Given the description of an element on the screen output the (x, y) to click on. 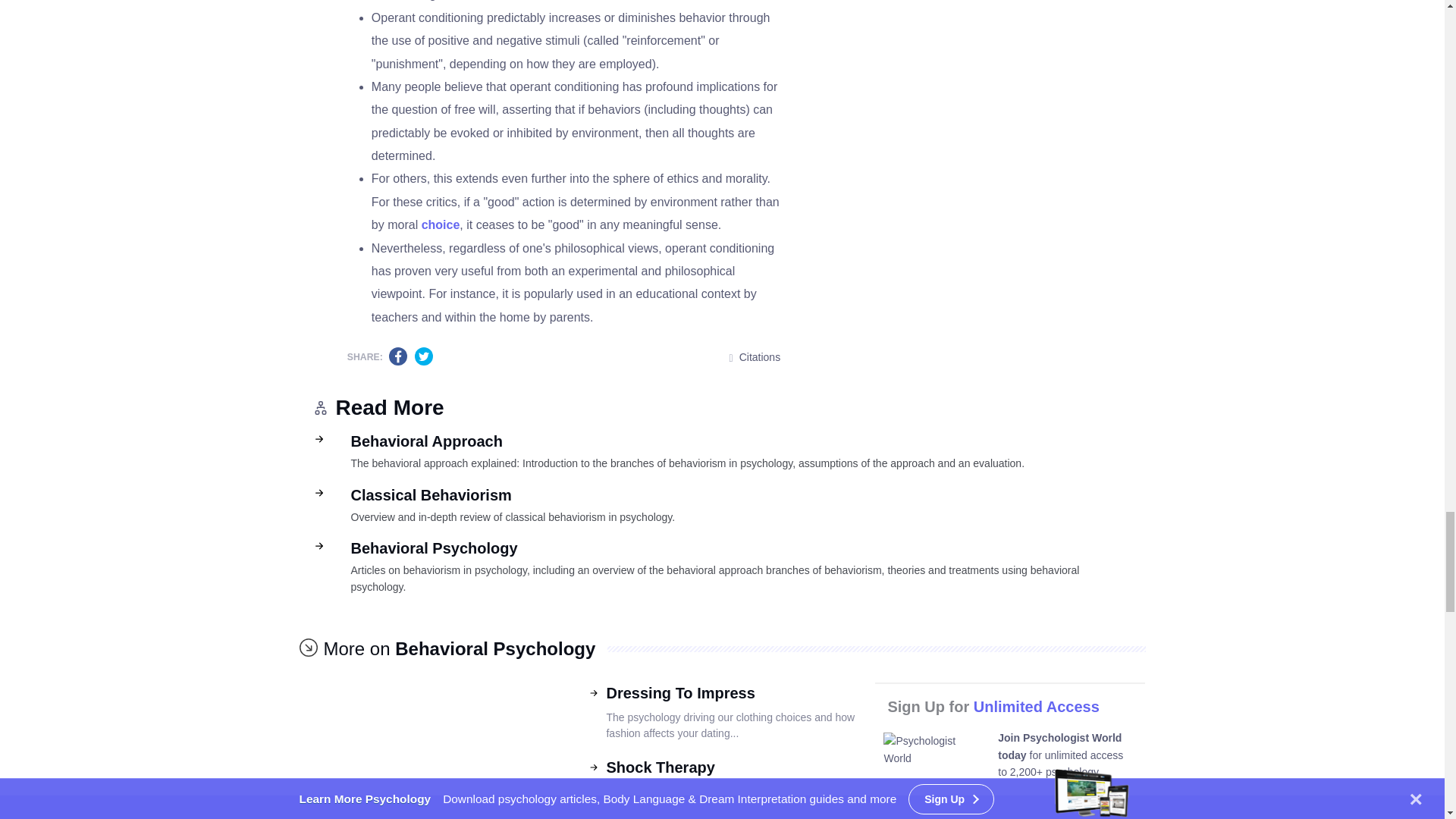
Tweet (567, 356)
Pavlov's Dogs (427, 356)
Share on Facebook (433, 750)
